Given the description of an element on the screen output the (x, y) to click on. 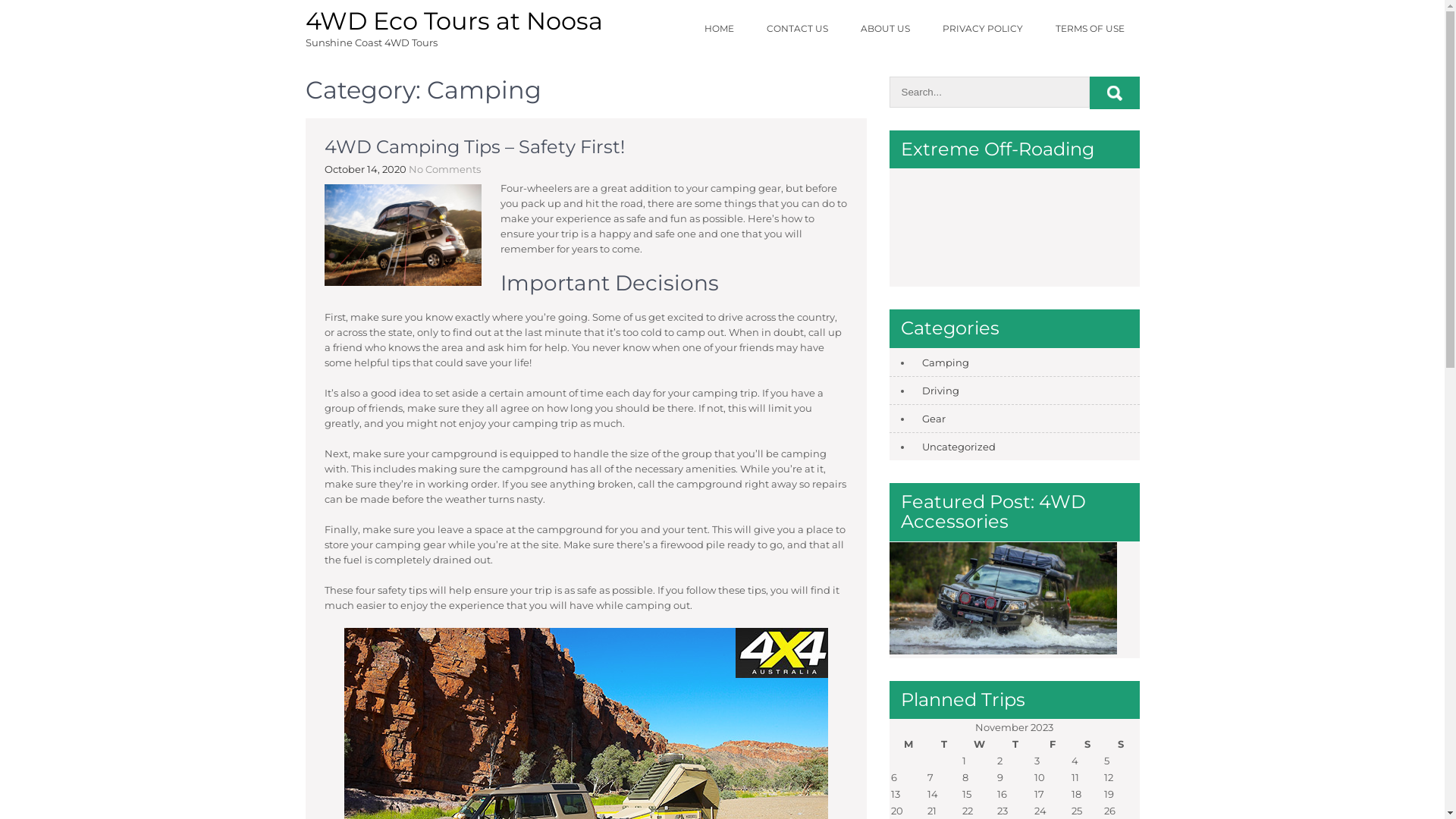
TERMS OF USE Element type: text (1089, 28)
PRIVACY POLICY Element type: text (981, 28)
Uncategorized Element type: text (954, 446)
No Comments Element type: text (443, 169)
4WD Eco Tours at Noosa Element type: text (453, 20)
CONTACT US Element type: text (796, 28)
Search Element type: text (1113, 92)
ABOUT US Element type: text (884, 28)
HOME Element type: text (718, 28)
Driving Element type: text (936, 390)
Gear Element type: text (929, 418)
Camping Element type: text (941, 362)
